Given the description of an element on the screen output the (x, y) to click on. 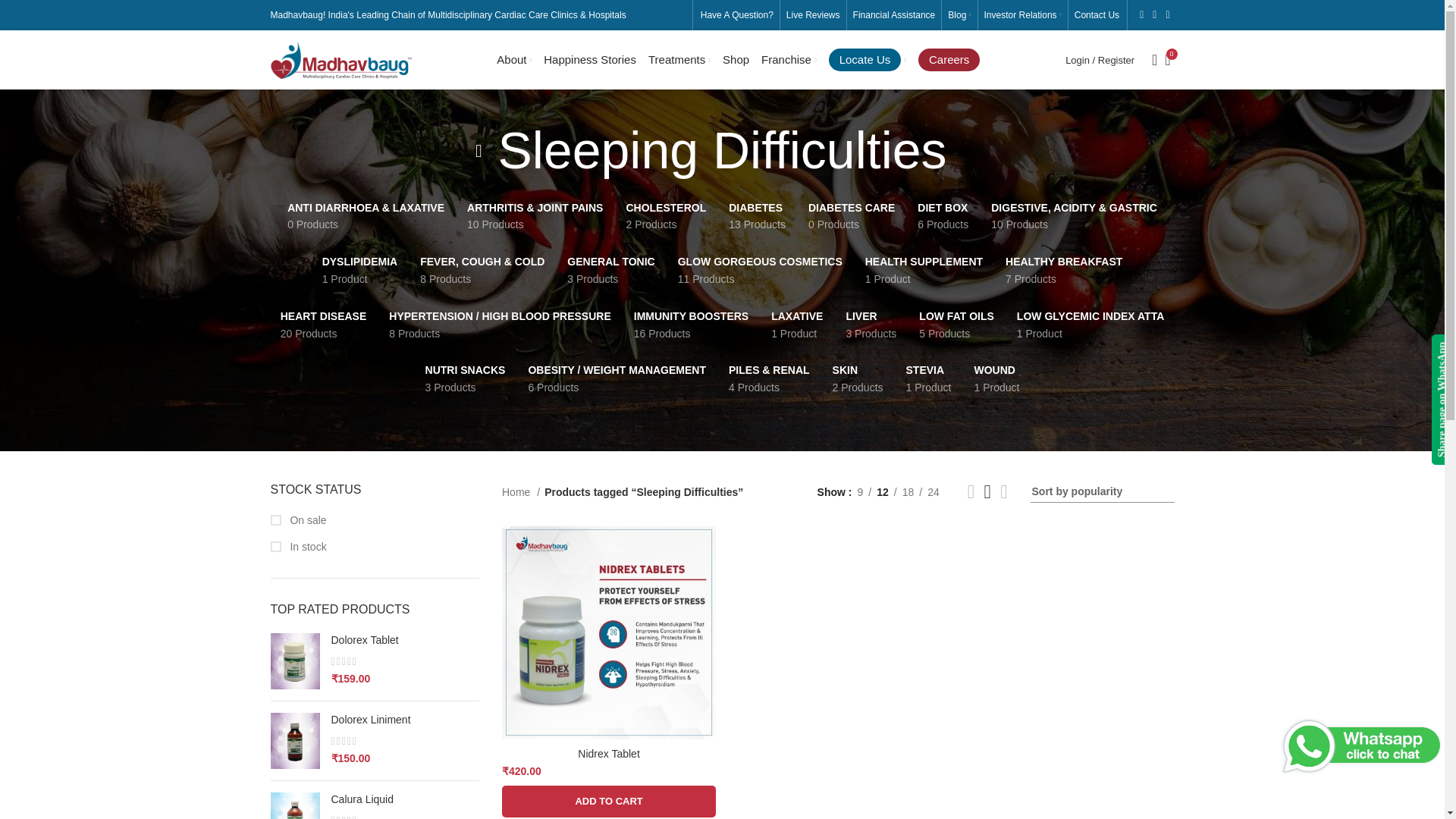
Live Reviews (813, 15)
Dolorex Tablet (404, 640)
Investor Relations (1022, 15)
Calura Liquid (404, 799)
My account (1099, 60)
Contact Us (1096, 15)
Financial Assistance (894, 15)
Dolorex Liniment (404, 720)
Have A Question? (736, 15)
About (513, 60)
Treatments (678, 60)
Calura Liquid (293, 805)
Happiness Stories (589, 60)
